Given the description of an element on the screen output the (x, y) to click on. 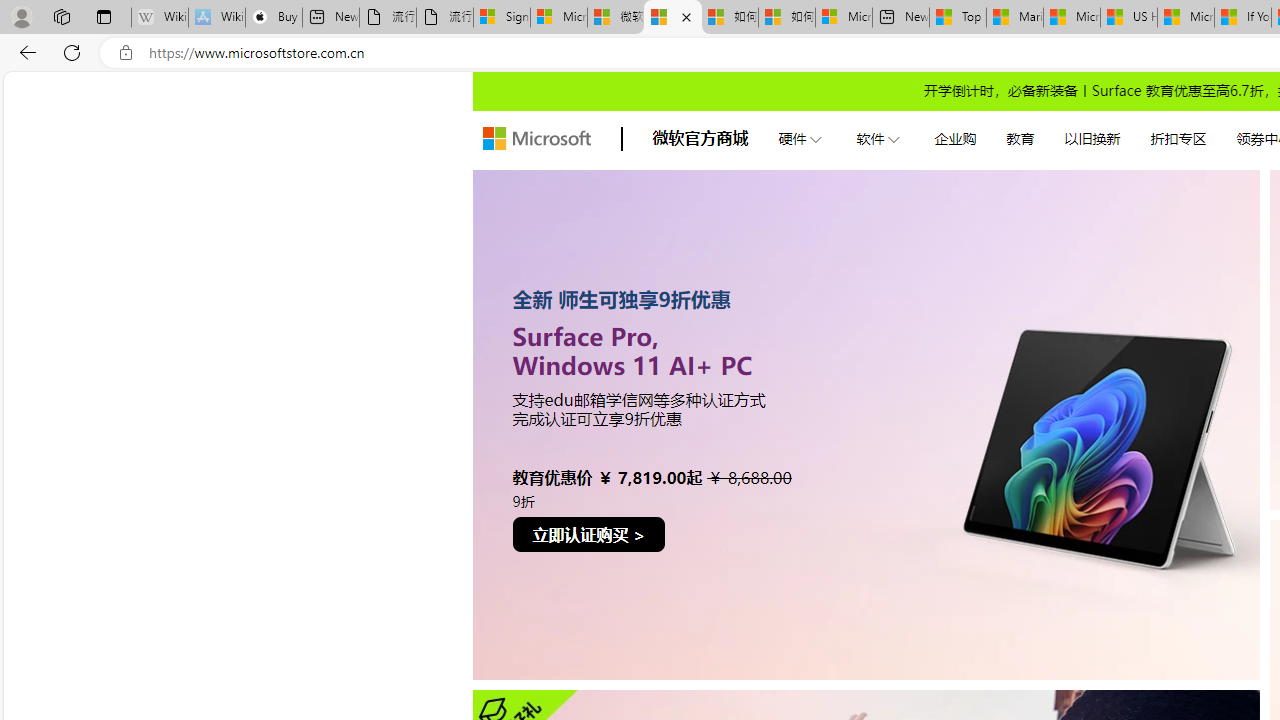
edu (865, 424)
Buy iPad - Apple (273, 17)
store logo (536, 138)
Microsoft account | Account Checkup (843, 17)
